Given the description of an element on the screen output the (x, y) to click on. 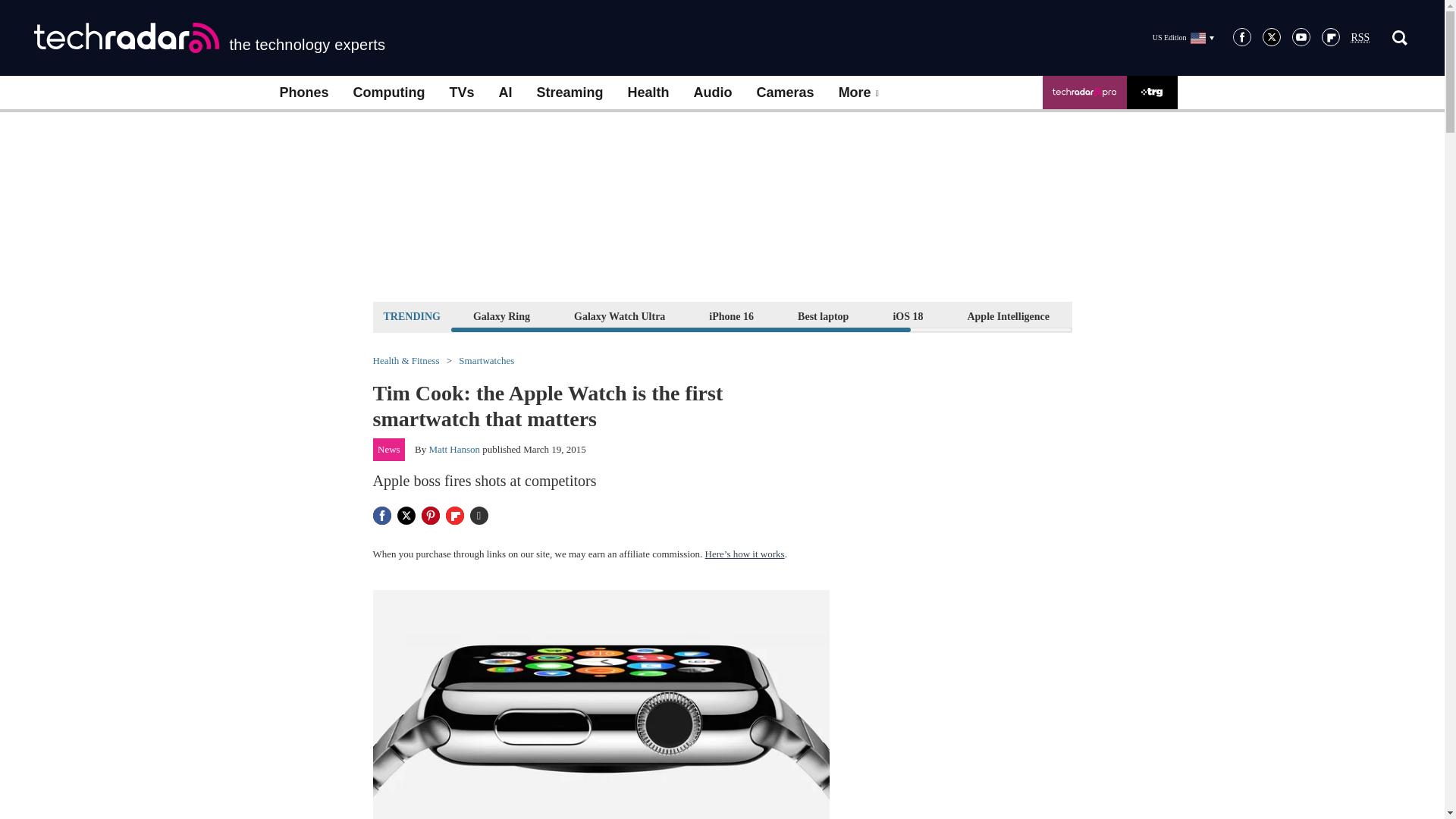
TVs (461, 92)
Streaming (569, 92)
US Edition (1182, 37)
Phones (303, 92)
Computing (389, 92)
the technology experts (209, 38)
AI (505, 92)
Cameras (785, 92)
Really Simple Syndication (1360, 37)
Health (648, 92)
Audio (712, 92)
